Given the description of an element on the screen output the (x, y) to click on. 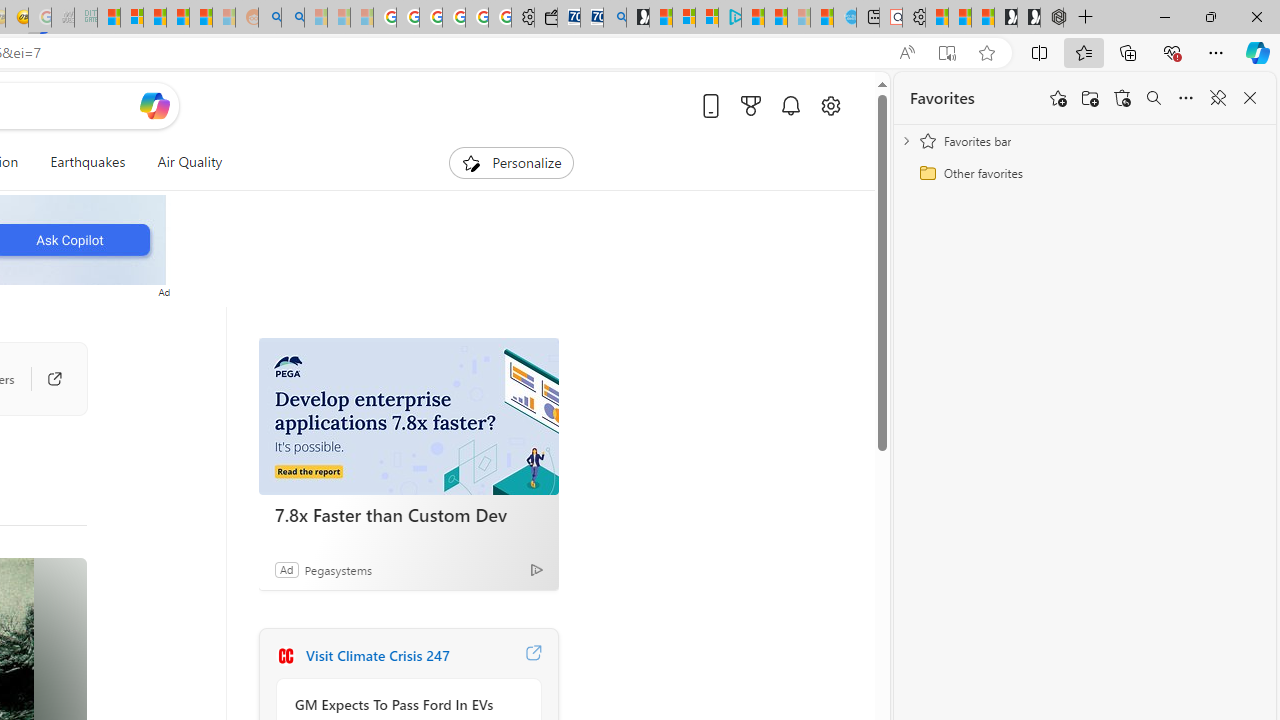
Add this page to favorites (1058, 98)
Pegasystems (338, 569)
